Given the description of an element on the screen output the (x, y) to click on. 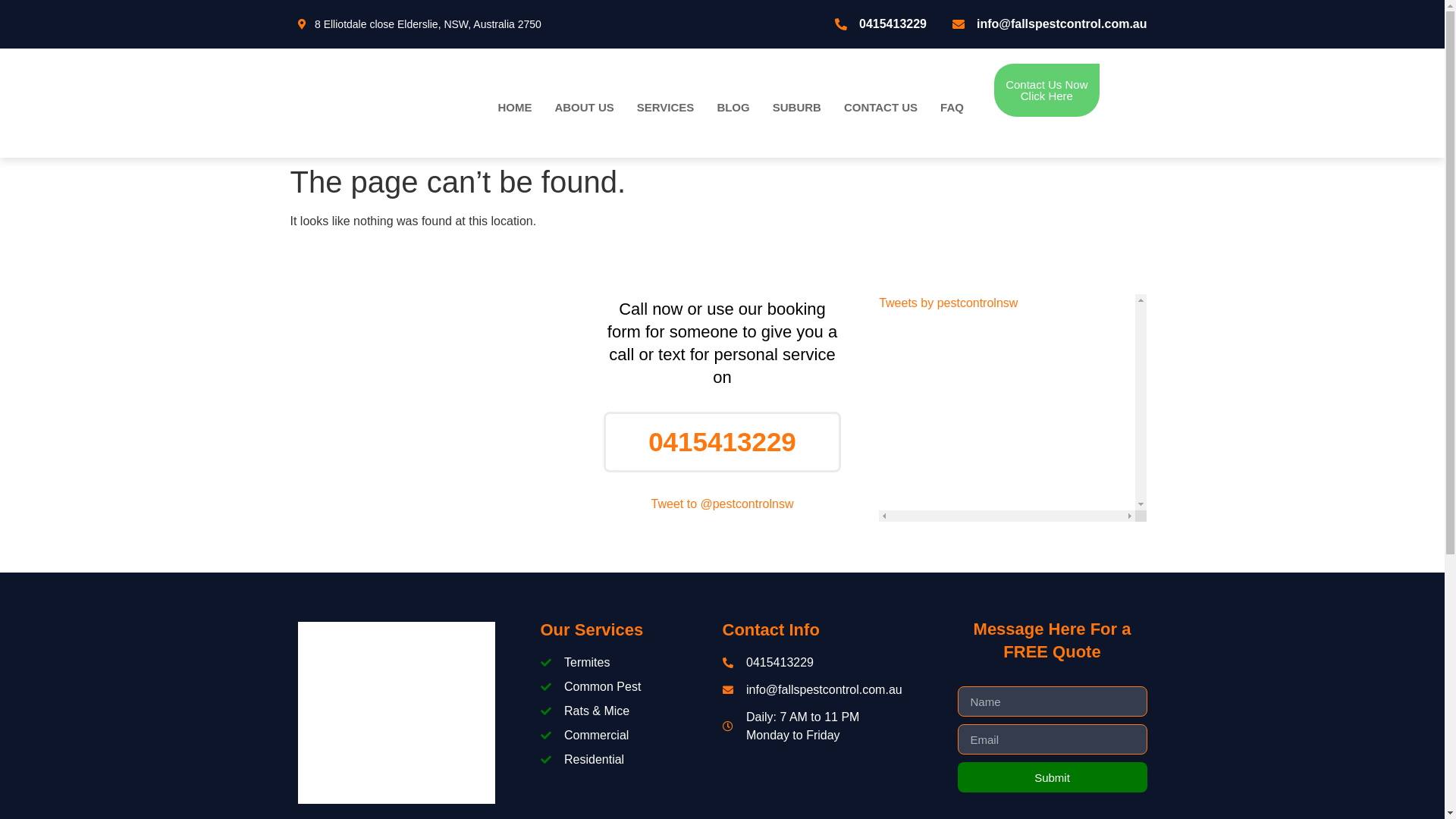
ABOUT US Element type: text (583, 106)
Submit Element type: text (1051, 777)
Tweets by pestcontrolnsw Element type: text (947, 302)
info@fallspestcontrol.com.au Element type: text (1048, 24)
SERVICES Element type: text (665, 106)
8 Elliotdale close Elderslie, NSW, Australia 2750 Element type: text (509, 24)
FAQ Element type: text (951, 106)
SUBURB Element type: text (796, 106)
Tweet to @pestcontrolnsw Element type: text (722, 503)
info@fallspestcontrol.com.au Element type: text (812, 689)
0415413229 Element type: text (878, 24)
HOME Element type: text (514, 106)
CONTACT US Element type: text (880, 106)
0415413229 Element type: text (812, 662)
Contact Us Now Click Here Element type: text (1046, 89)
BLOG Element type: text (732, 106)
